Given the description of an element on the screen output the (x, y) to click on. 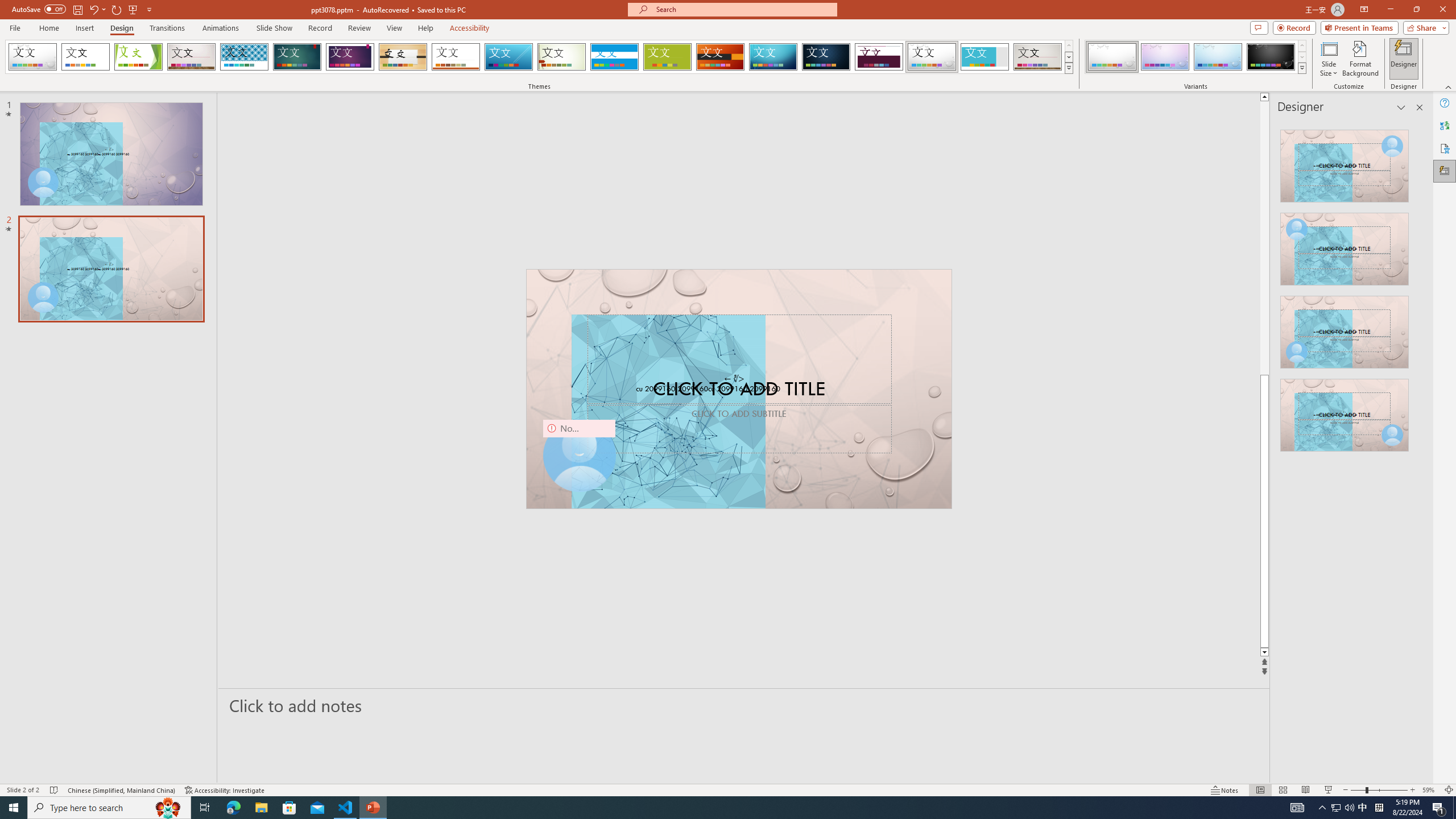
Droplet (931, 56)
Slide Notes (743, 705)
Wisp (561, 56)
Droplet Variant 4 (1270, 56)
Gallery (1037, 56)
Damask (826, 56)
Organic (403, 56)
Berlin (720, 56)
